Given the description of an element on the screen output the (x, y) to click on. 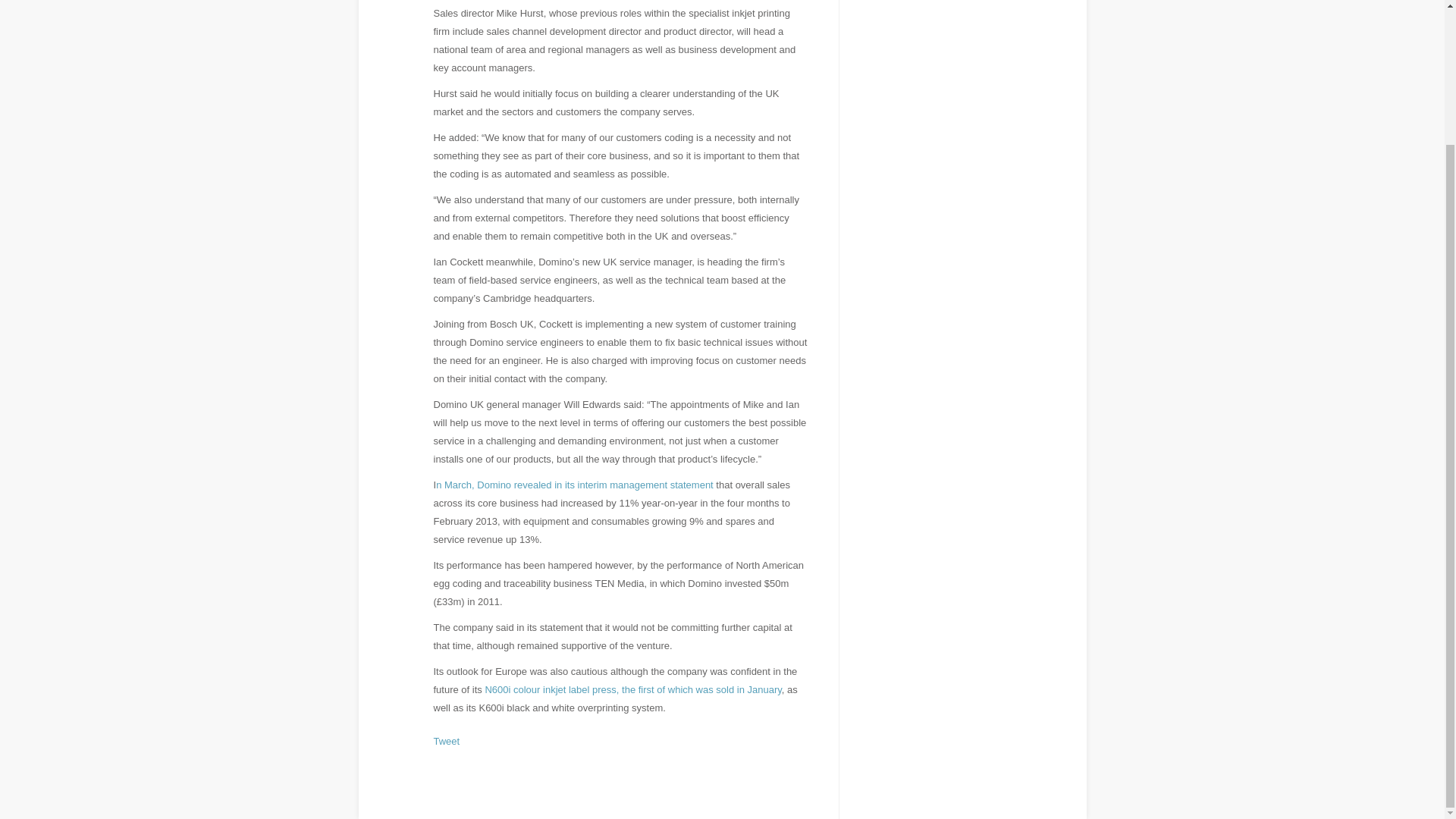
n March, Domino revealed in its interim management statement (575, 484)
Tweet (446, 740)
